Given the description of an element on the screen output the (x, y) to click on. 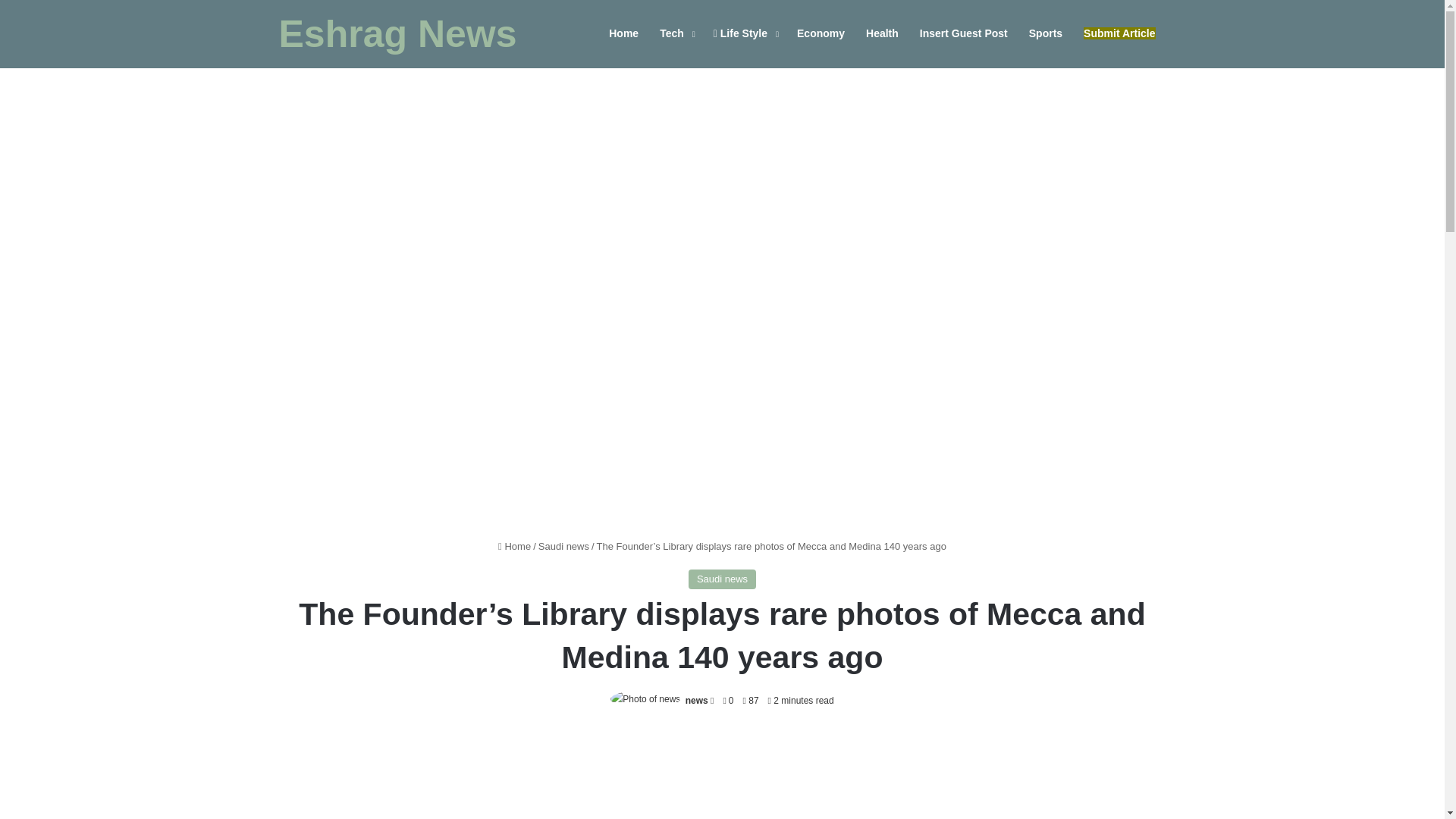
Home (514, 546)
news (696, 700)
news (696, 700)
Saudi news (563, 546)
Life Style (744, 33)
Health (882, 33)
Tech (676, 33)
Eshrag News (397, 34)
Advertisement (722, 775)
Sports (1045, 33)
Saudi news (721, 578)
Submit Article (1119, 33)
Home (623, 33)
